Given the description of an element on the screen output the (x, y) to click on. 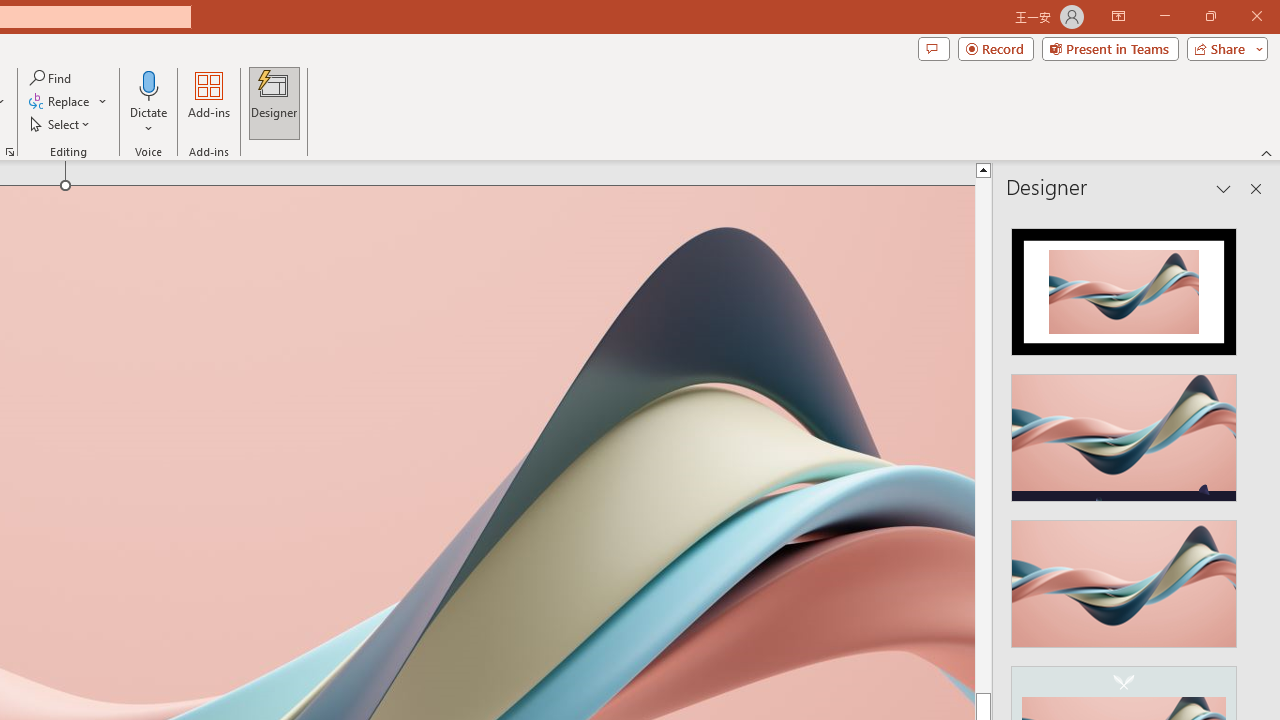
Find... (51, 78)
Page up (983, 434)
